Given the description of an element on the screen output the (x, y) to click on. 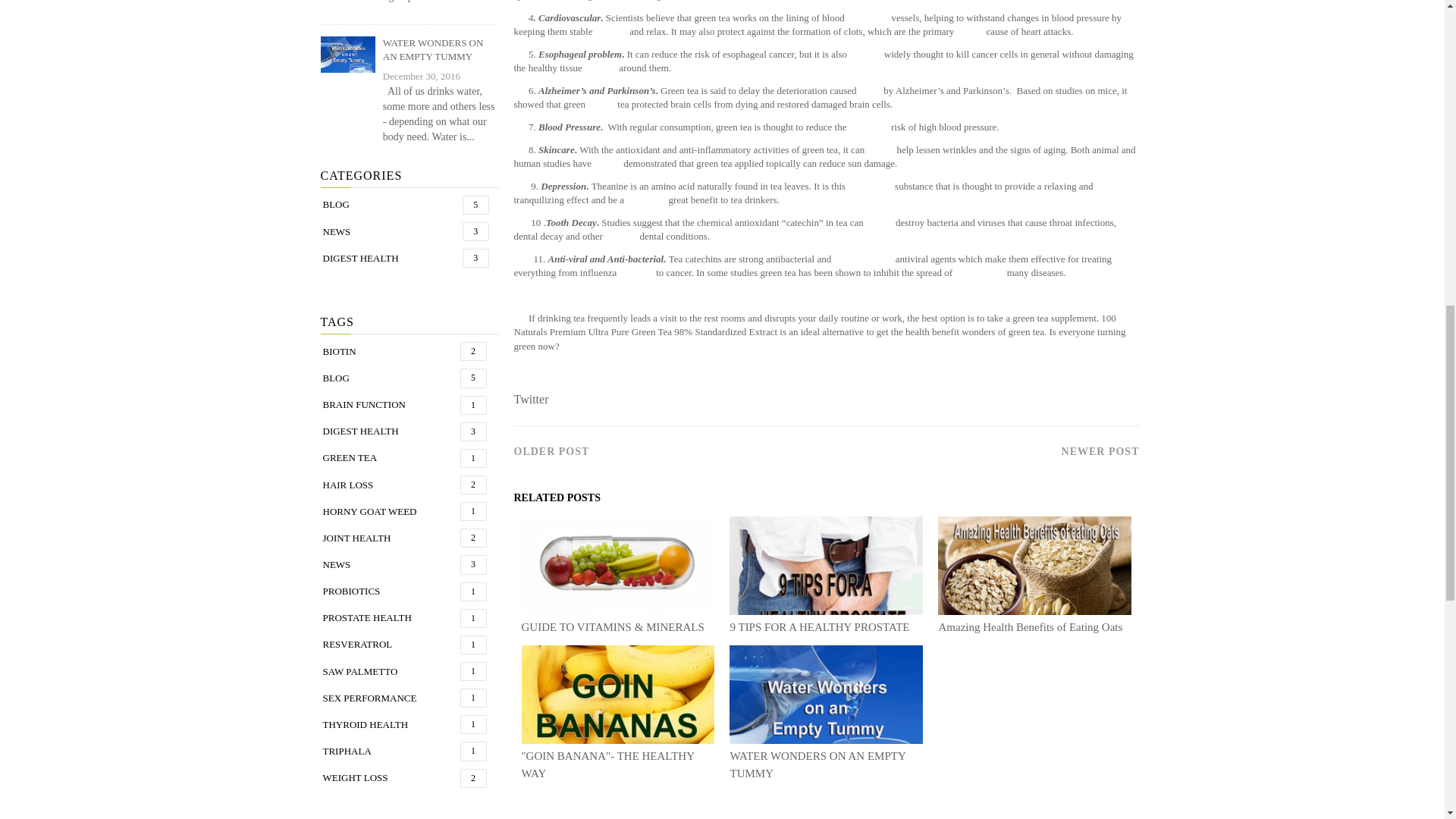
BLOG (390, 204)
WATER WONDERS ON AN EMPTY TUMMY (440, 49)
